Given the description of an element on the screen output the (x, y) to click on. 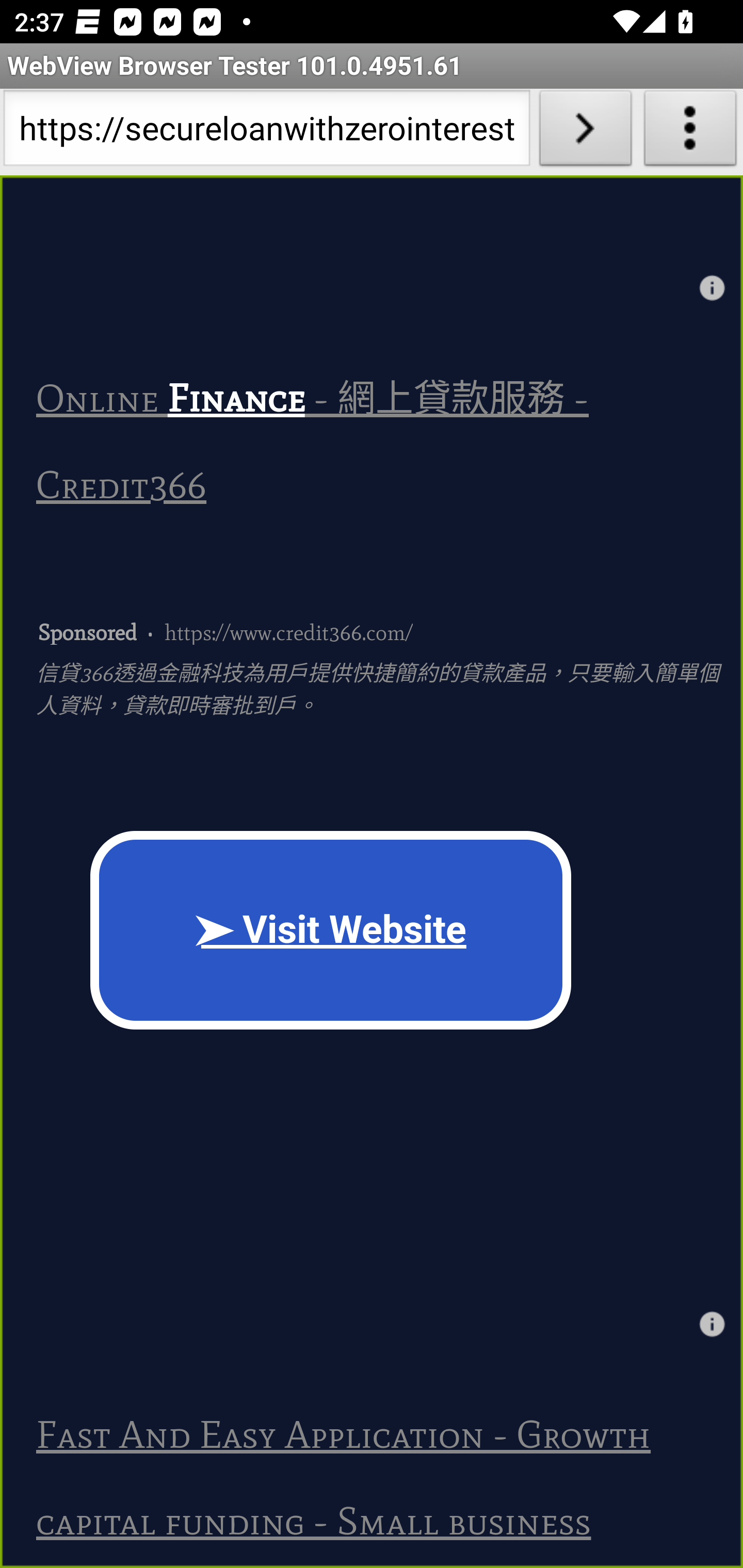
Load URL (585, 132)
About WebView (690, 132)
Why this ad? (711, 286)
https://www.credit366.com/ (287, 631)
➤ Visit Website (331, 930)
Why this ad? (711, 1323)
